Given the description of an element on the screen output the (x, y) to click on. 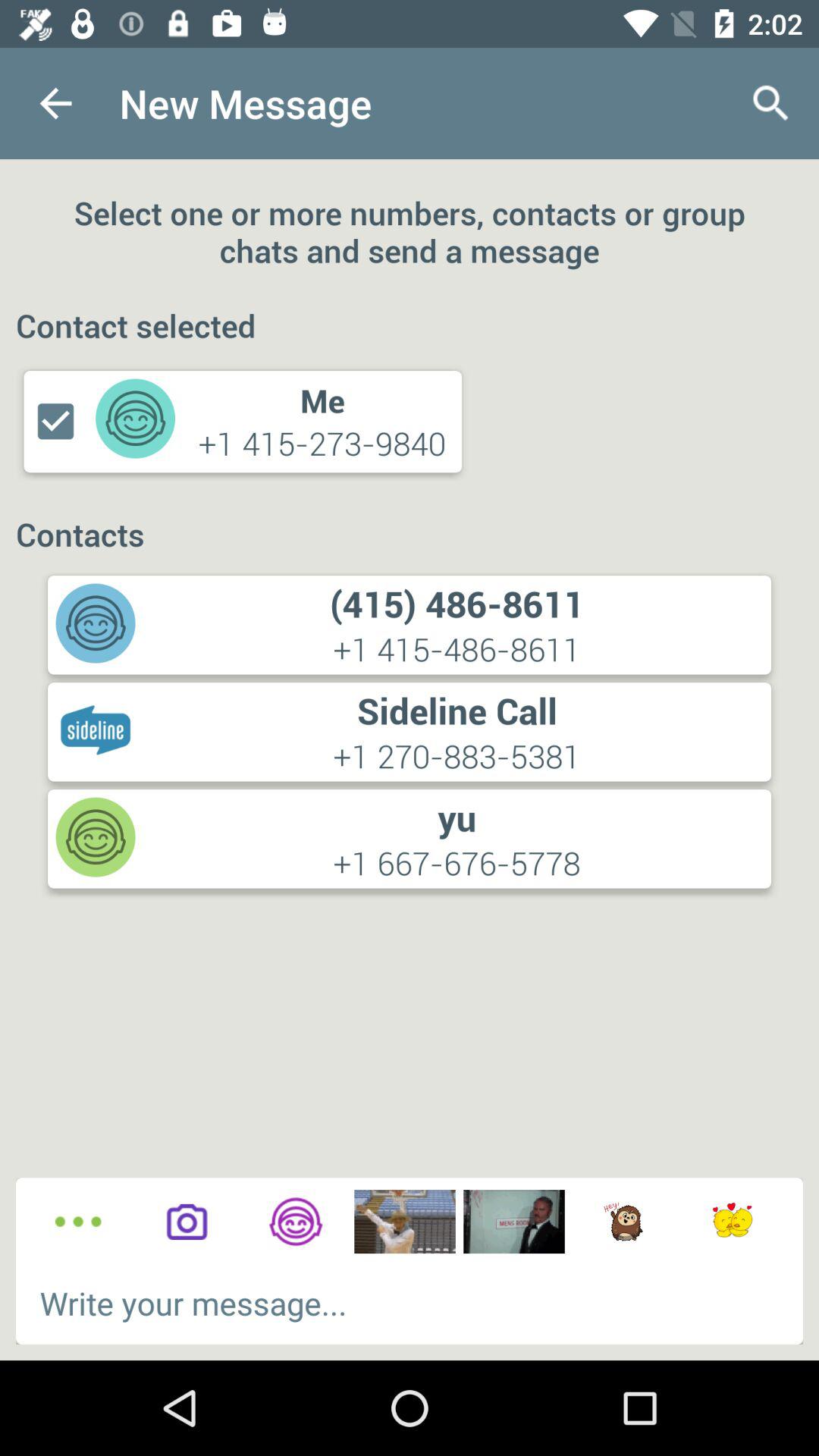
tap icon at the top right corner (771, 103)
